Given the description of an element on the screen output the (x, y) to click on. 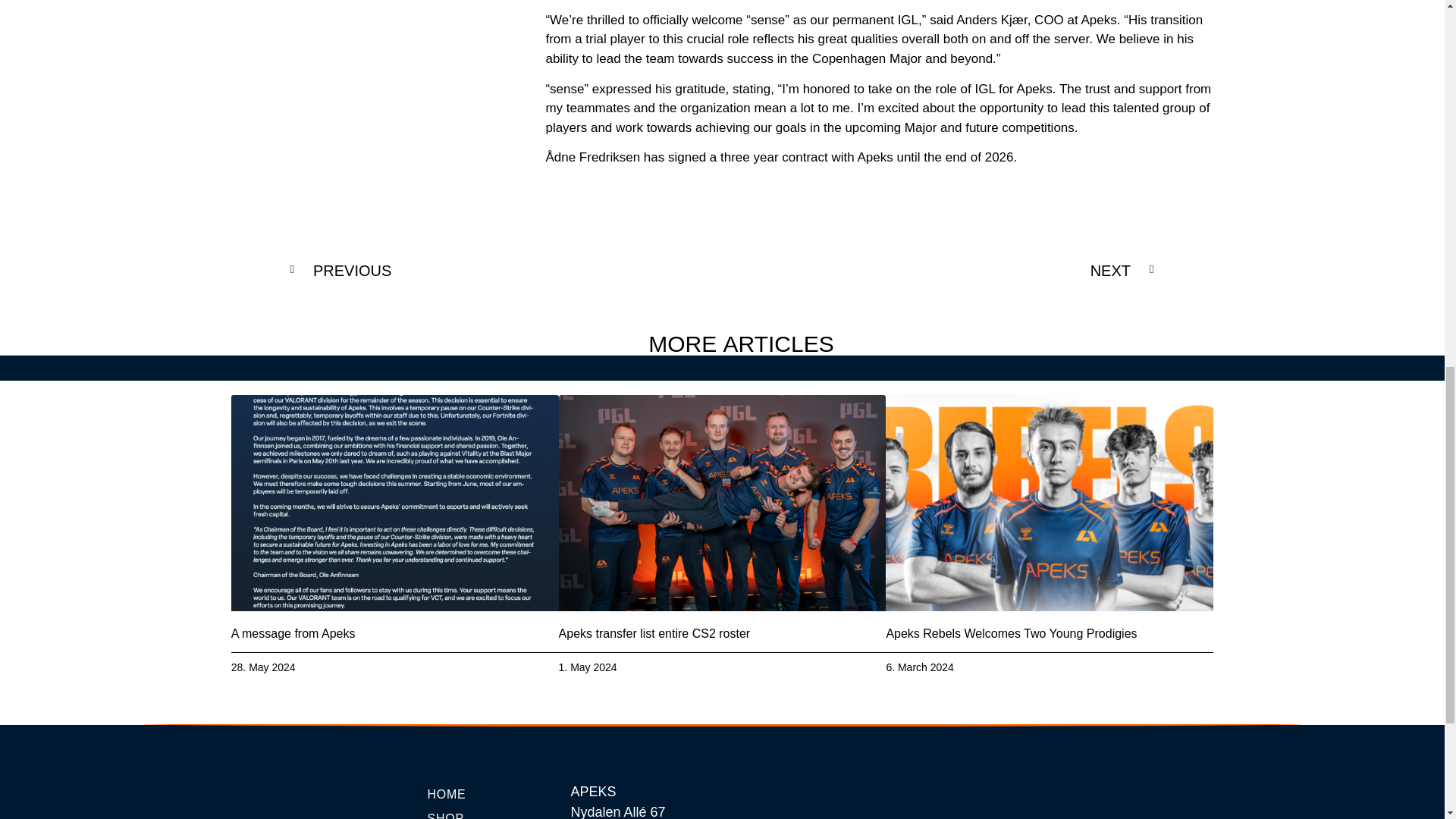
SHOP (492, 813)
NEXT (938, 270)
A message from Apeks (293, 633)
PREVIOUS (505, 270)
Apeks transfer list entire CS2 roster (655, 633)
Apeks Rebels Welcomes Two Young Prodigies (1011, 633)
HOME (492, 793)
